Given the description of an element on the screen output the (x, y) to click on. 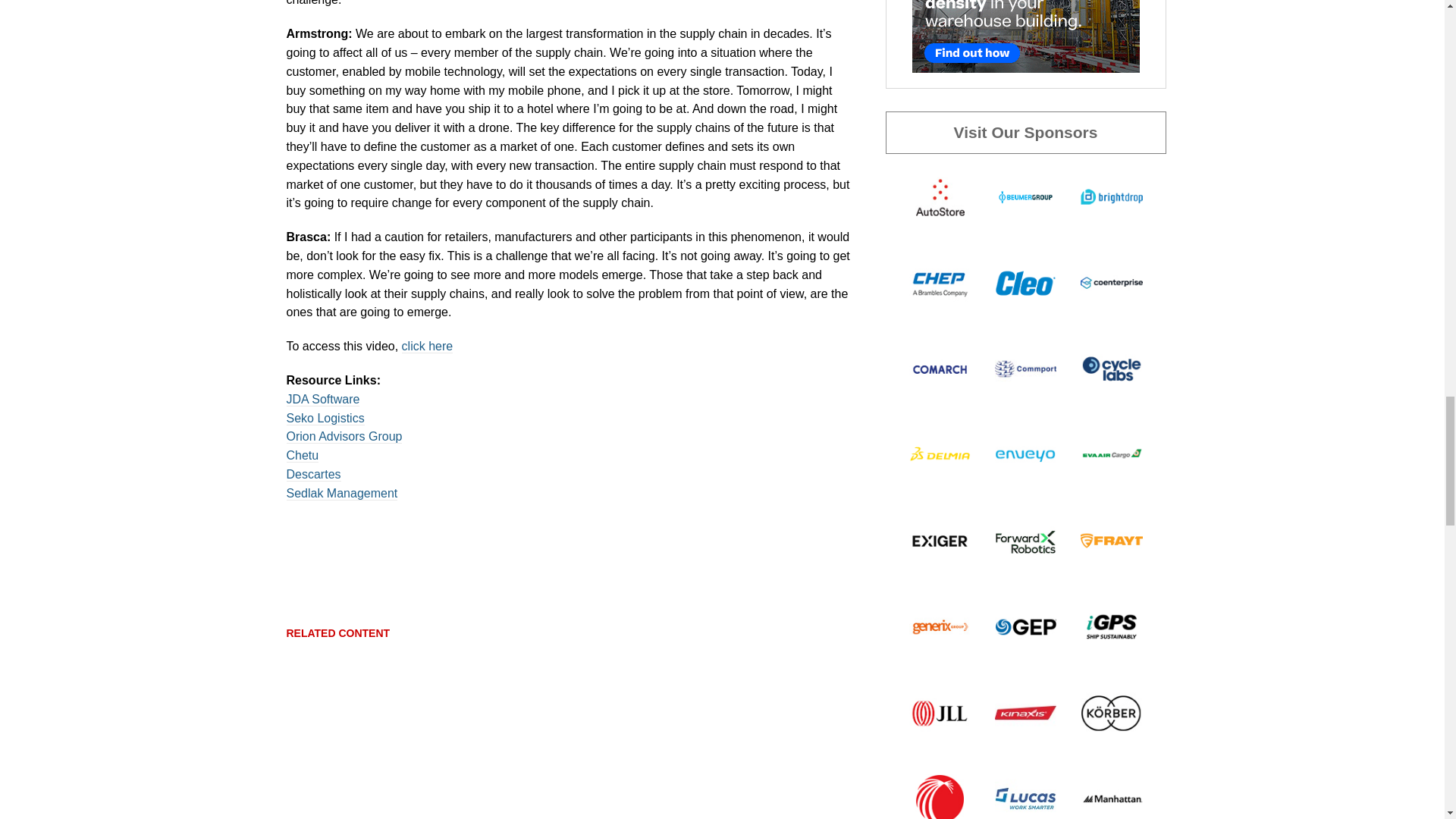
Beumer Group (1025, 195)
AutoStore (938, 195)
CHEP (938, 282)
Brightdrop (1110, 195)
Coenterprise (1110, 282)
Cleo (1025, 282)
